Given the description of an element on the screen output the (x, y) to click on. 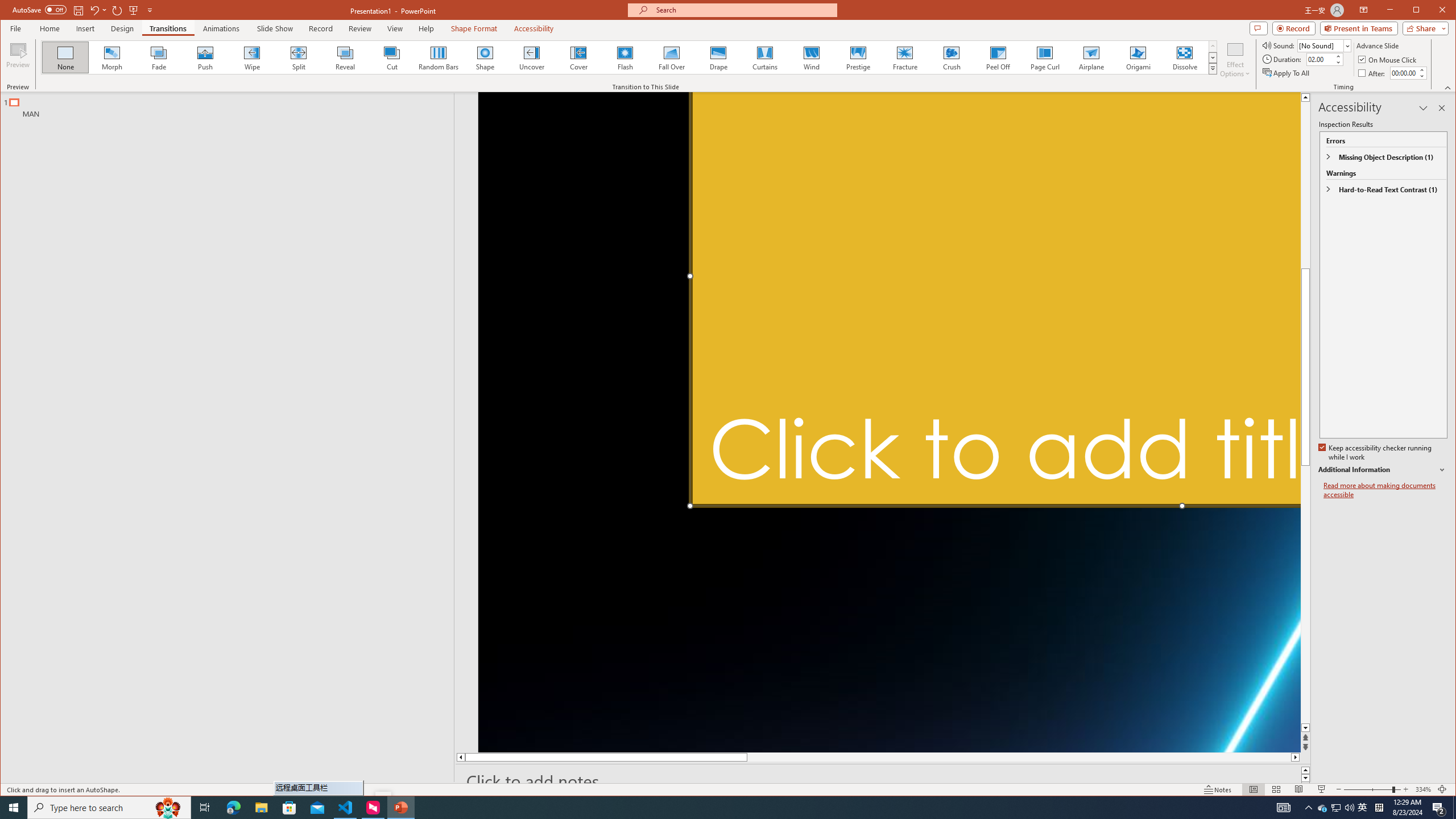
Origami (1138, 57)
Cover (577, 57)
Fracture (904, 57)
Uncover (531, 57)
Fall Over (670, 57)
